Given the description of an element on the screen output the (x, y) to click on. 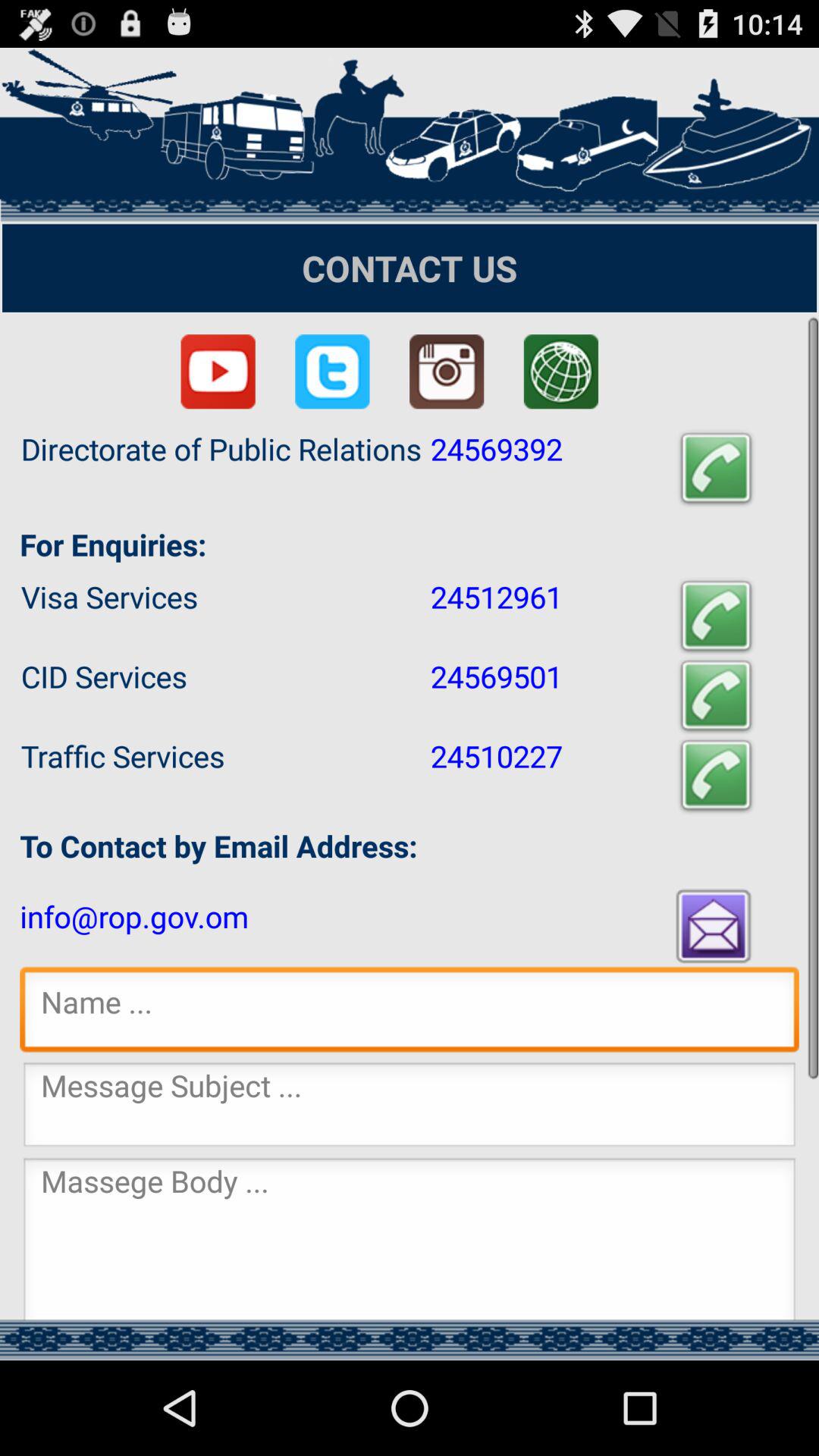
turn off the item to the right of 24569501 icon (716, 695)
